Given the description of an element on the screen output the (x, y) to click on. 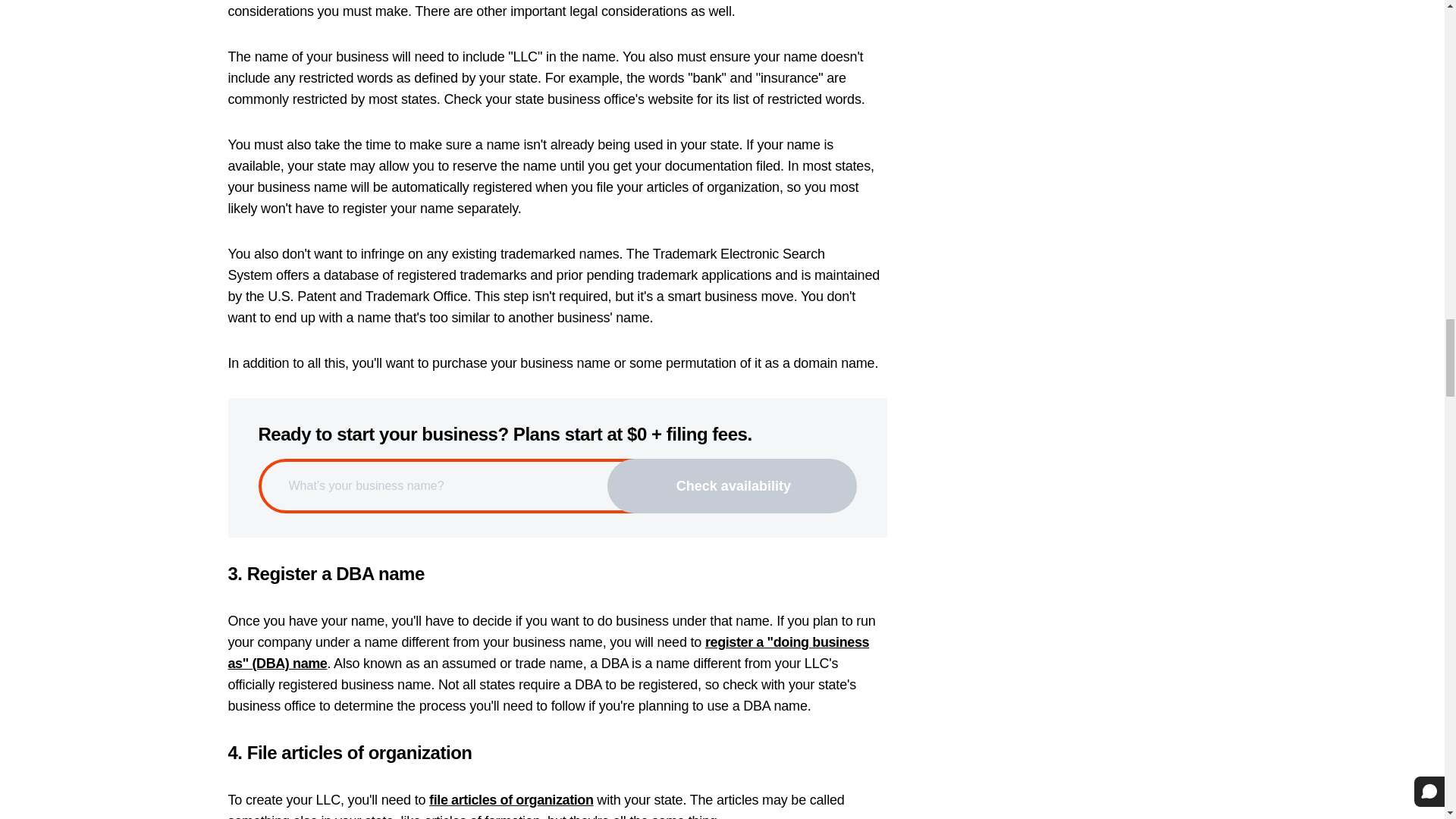
file articles of organization (510, 799)
Check availability (732, 485)
